Given the description of an element on the screen output the (x, y) to click on. 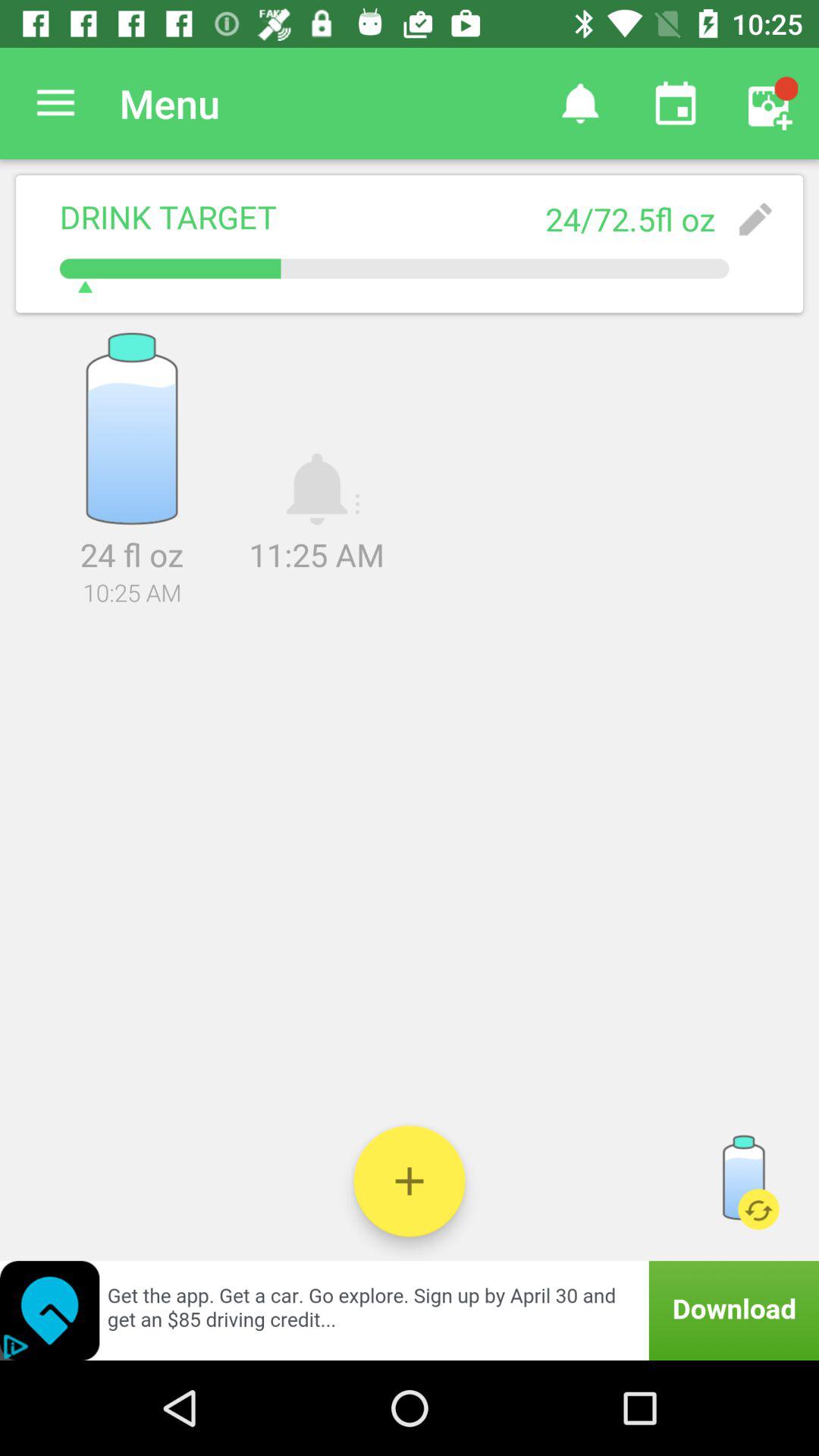
press icon above the drink target (55, 103)
